Given the description of an element on the screen output the (x, y) to click on. 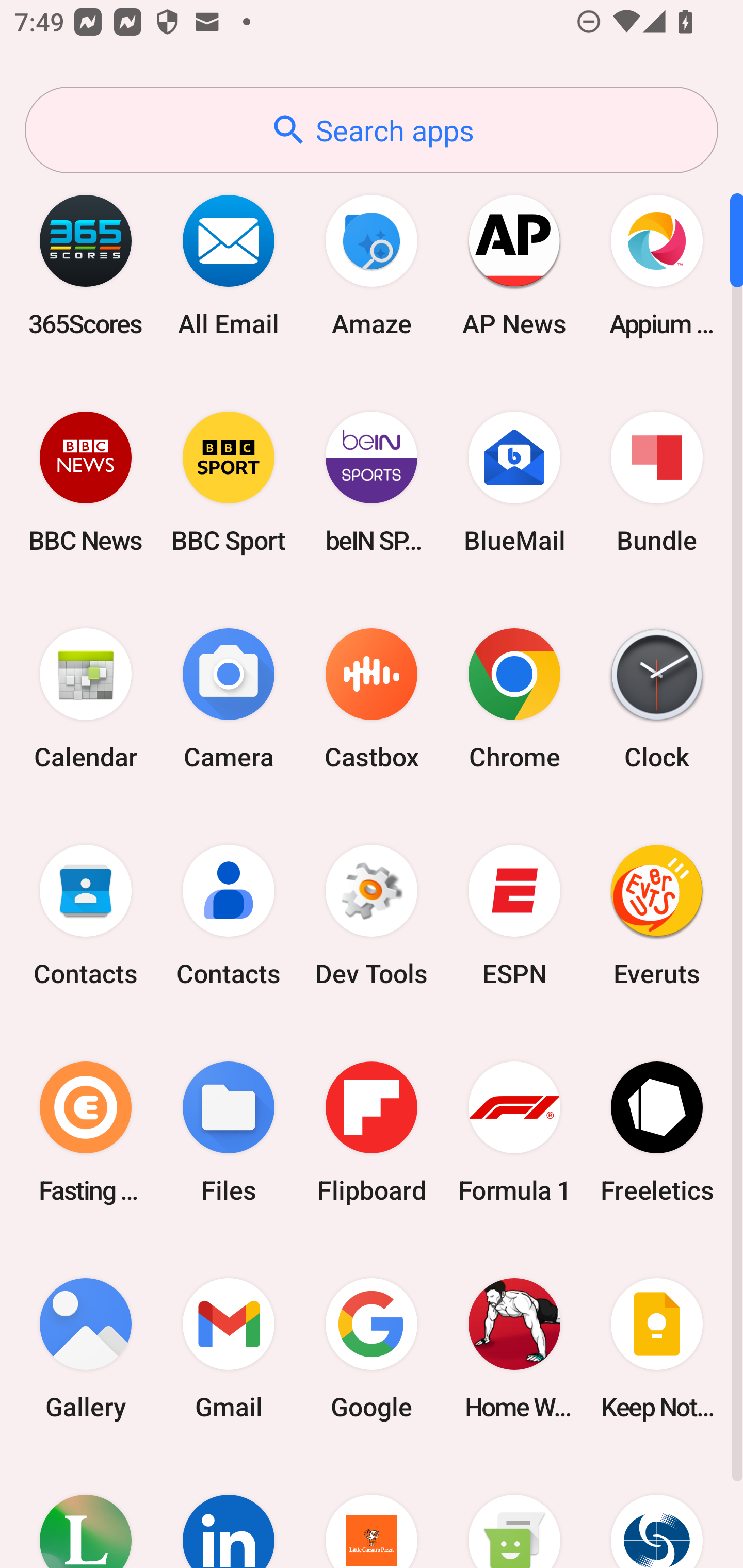
  Search apps (371, 130)
365Scores (85, 264)
All Email (228, 264)
Amaze (371, 264)
AP News (514, 264)
Appium Settings (656, 264)
BBC News (85, 482)
BBC Sport (228, 482)
beIN SPORTS (371, 482)
BlueMail (514, 482)
Bundle (656, 482)
Calendar (85, 699)
Camera (228, 699)
Castbox (371, 699)
Chrome (514, 699)
Clock (656, 699)
Contacts (85, 915)
Contacts (228, 915)
Dev Tools (371, 915)
ESPN (514, 915)
Everuts (656, 915)
Fasting Coach (85, 1131)
Files (228, 1131)
Flipboard (371, 1131)
Formula 1 (514, 1131)
Freeletics (656, 1131)
Gallery (85, 1348)
Gmail (228, 1348)
Google (371, 1348)
Home Workout (514, 1348)
Keep Notes (656, 1348)
